Given the description of an element on the screen output the (x, y) to click on. 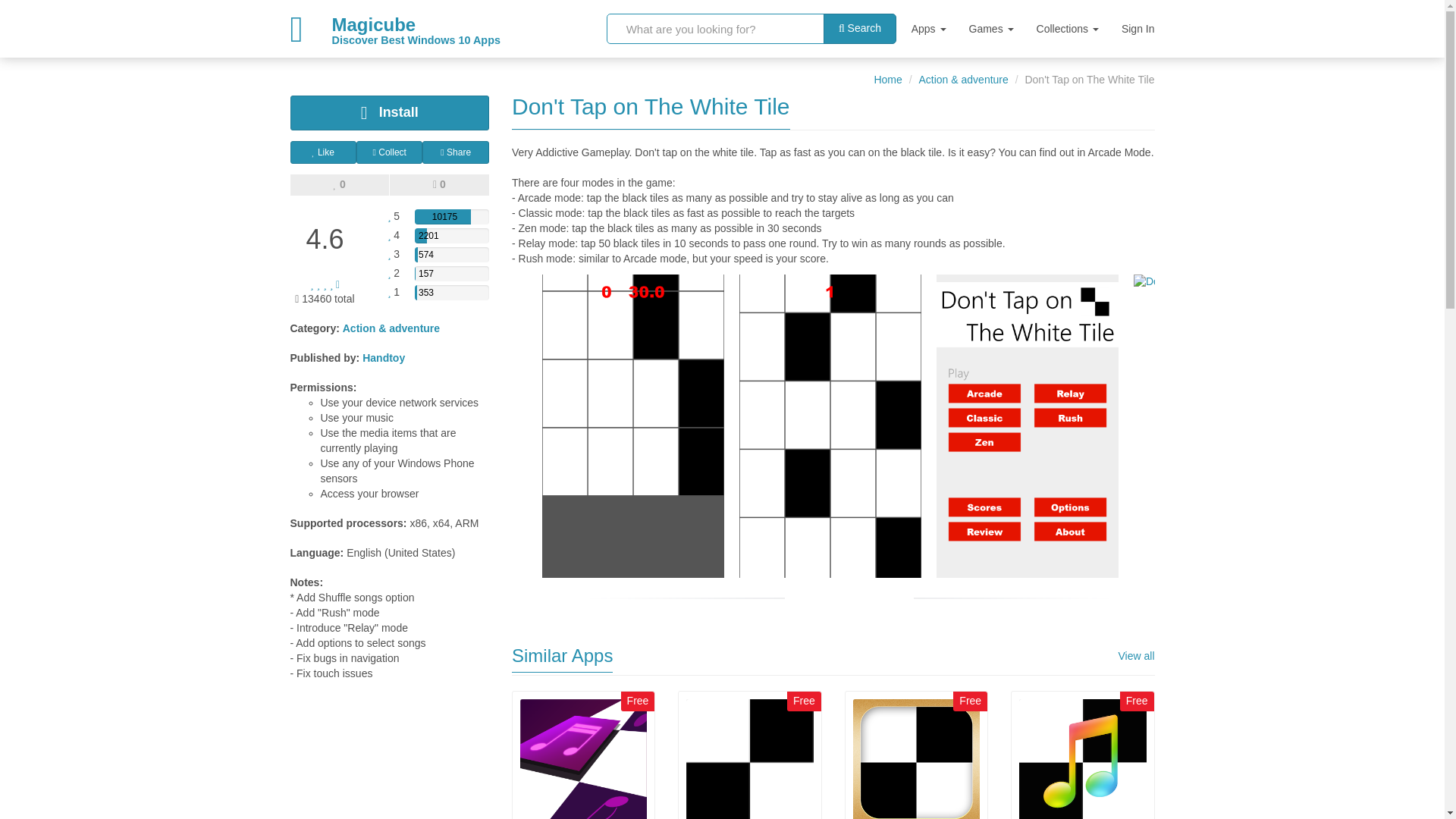
Search (860, 28)
Games (991, 28)
Apps (928, 28)
Likes (338, 184)
Collects (374, 28)
